Given the description of an element on the screen output the (x, y) to click on. 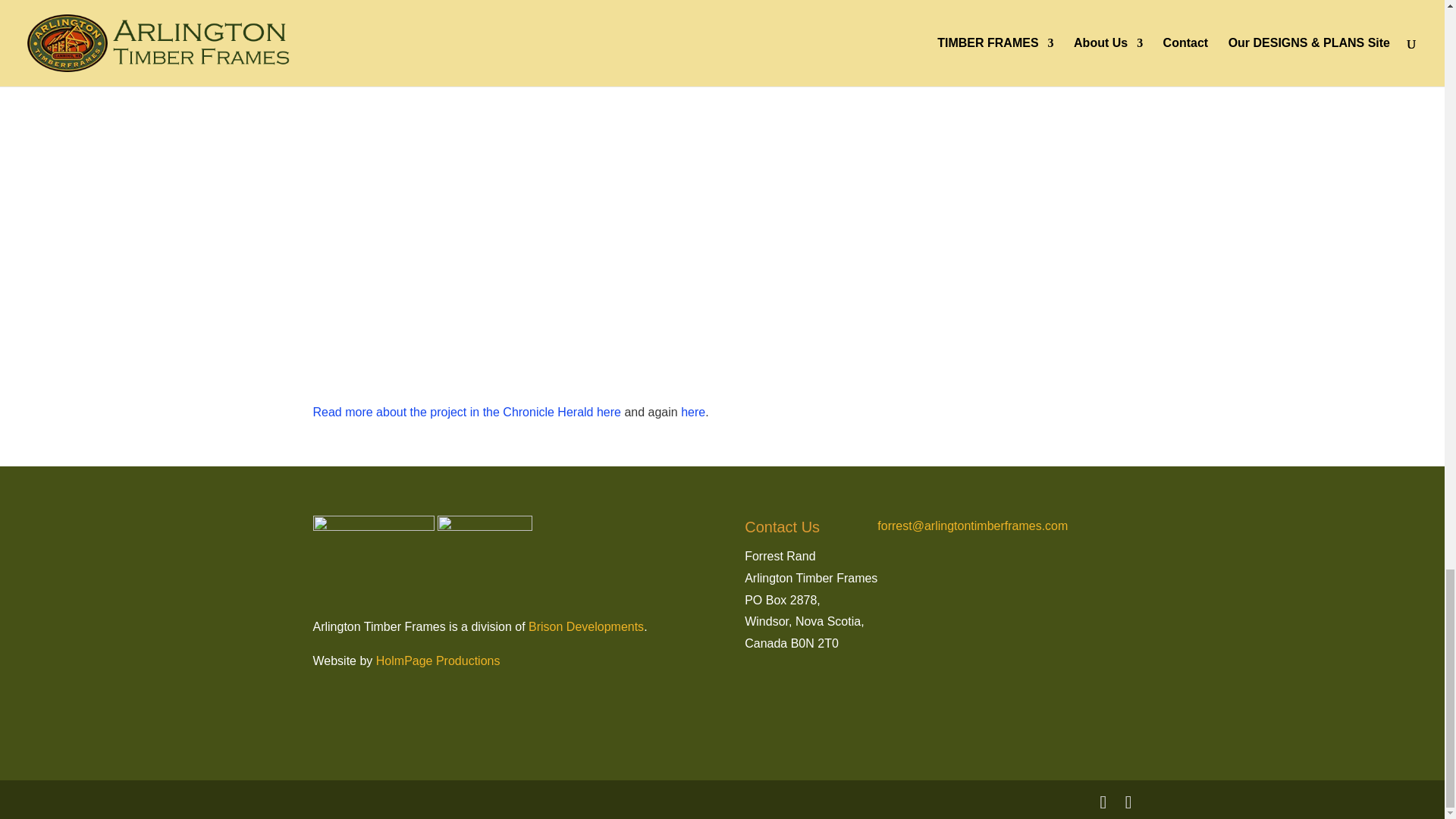
here (692, 411)
Read more about the project in the Chronicle Herald here (466, 411)
